Given the description of an element on the screen output the (x, y) to click on. 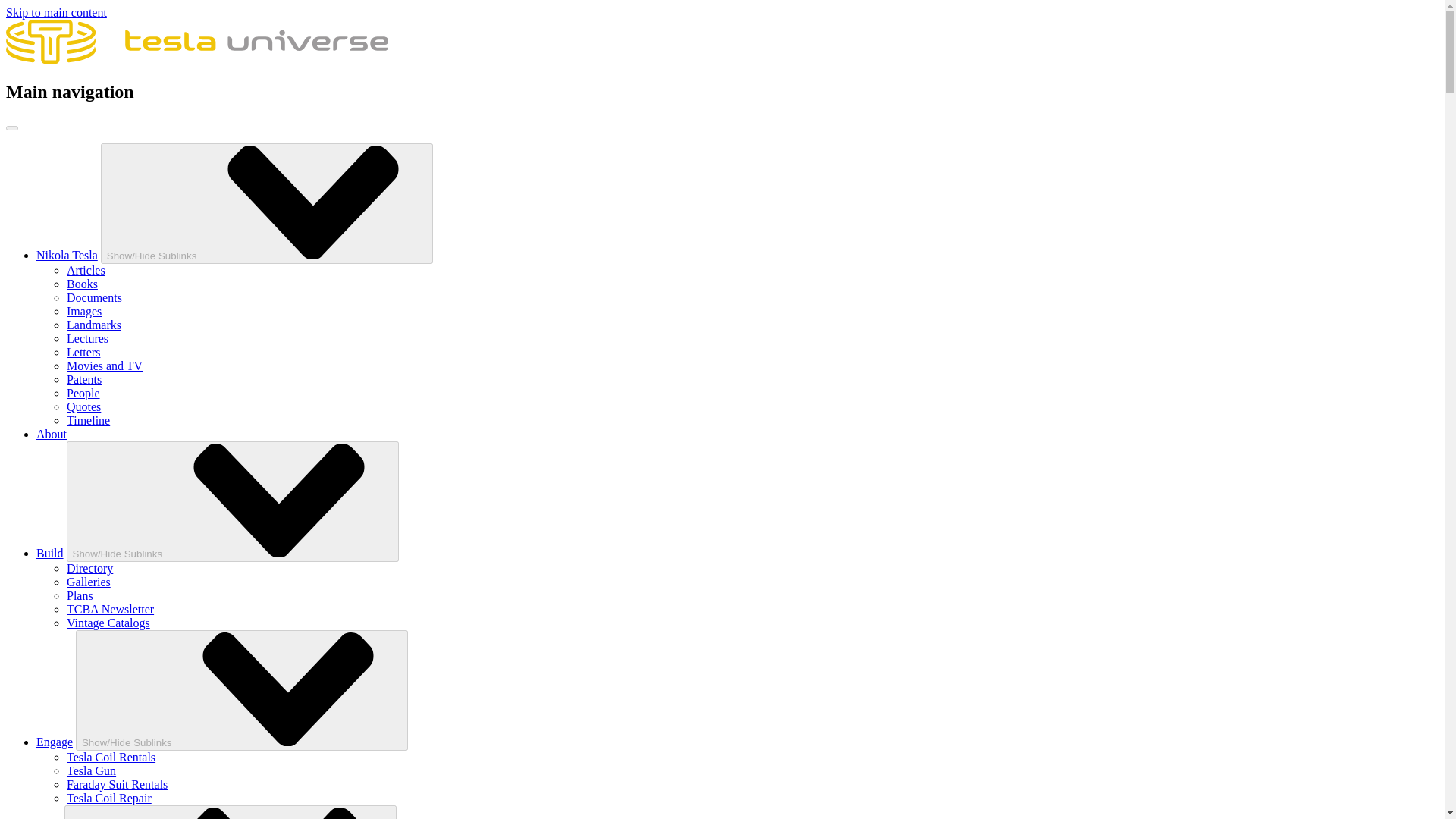
Build (50, 553)
Engage (54, 741)
Teslathon, Tesla coil and high-voltage builder photos. (88, 581)
Documents (94, 297)
Timeline (88, 420)
Patents (83, 379)
People (83, 392)
Nikola Tesla (66, 254)
